Given the description of an element on the screen output the (x, y) to click on. 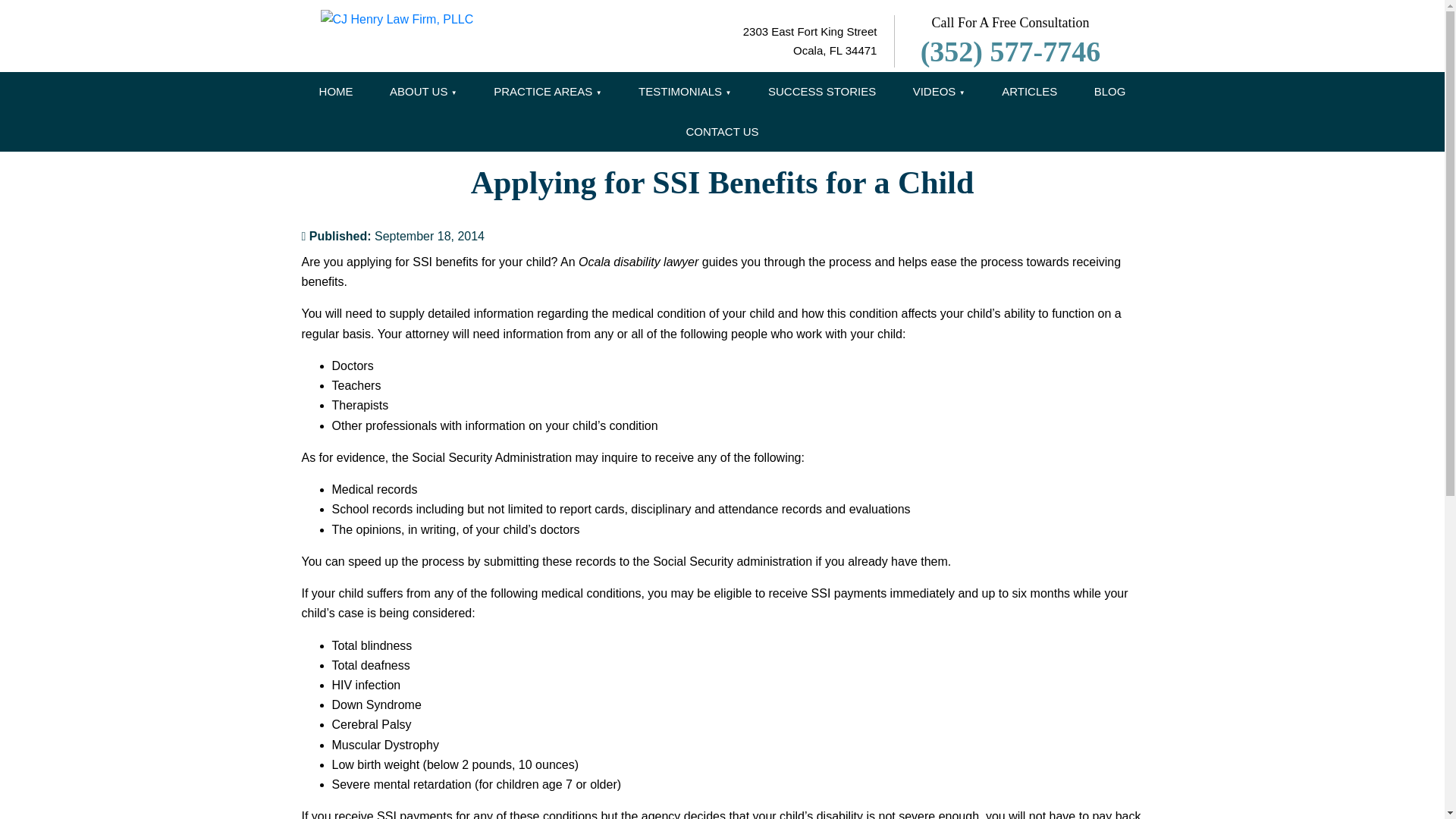
ABOUT US (423, 92)
HOME (335, 92)
ARTICLES (1029, 92)
VIDEOS (938, 92)
BLOG (1109, 92)
CONTACT US (721, 132)
TESTIMONIALS (684, 92)
PRACTICE AREAS (547, 92)
SUCCESS STORIES (821, 92)
